Given the description of an element on the screen output the (x, y) to click on. 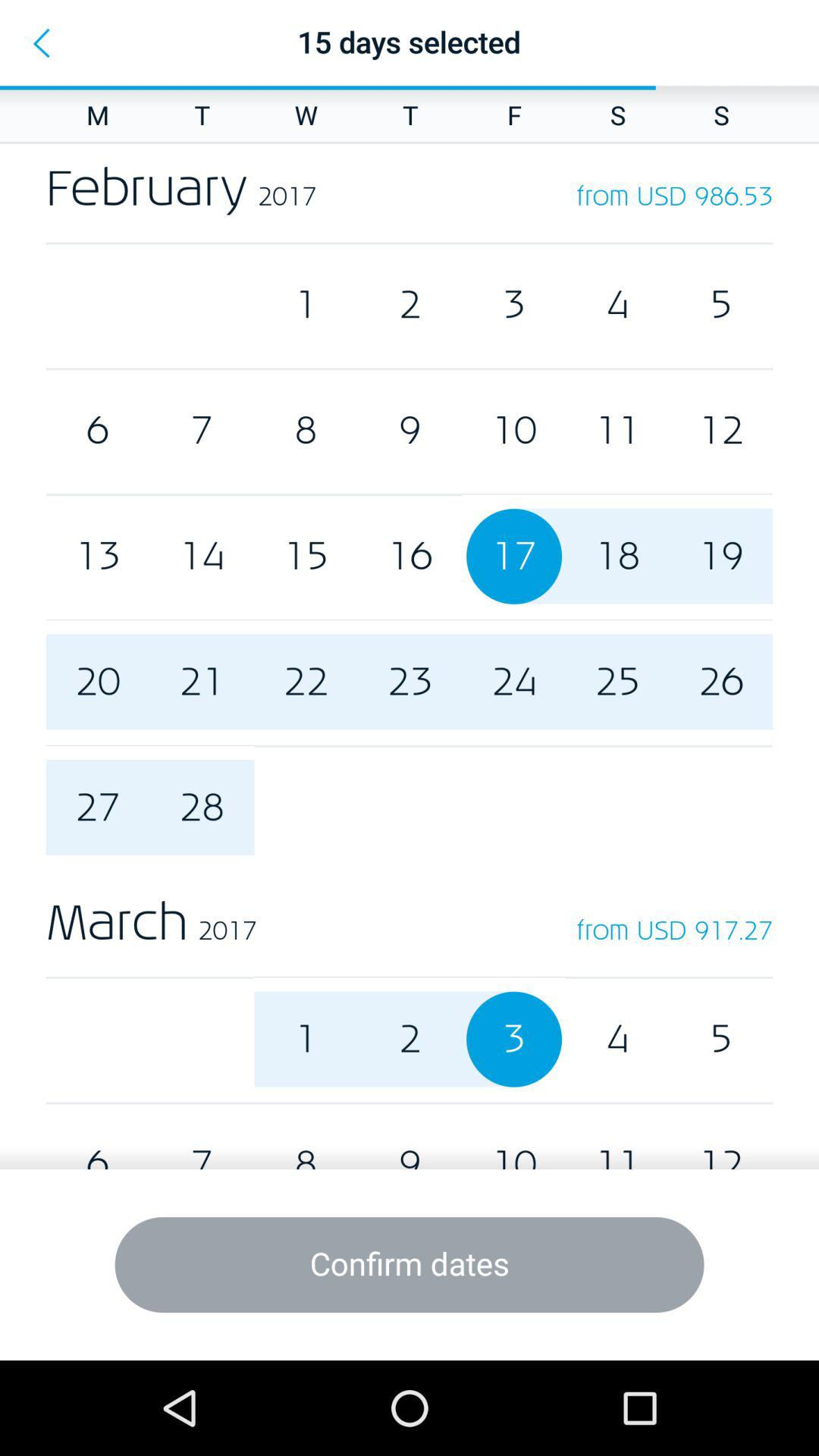
choose the confirm dates item (409, 1264)
